Given the description of an element on the screen output the (x, y) to click on. 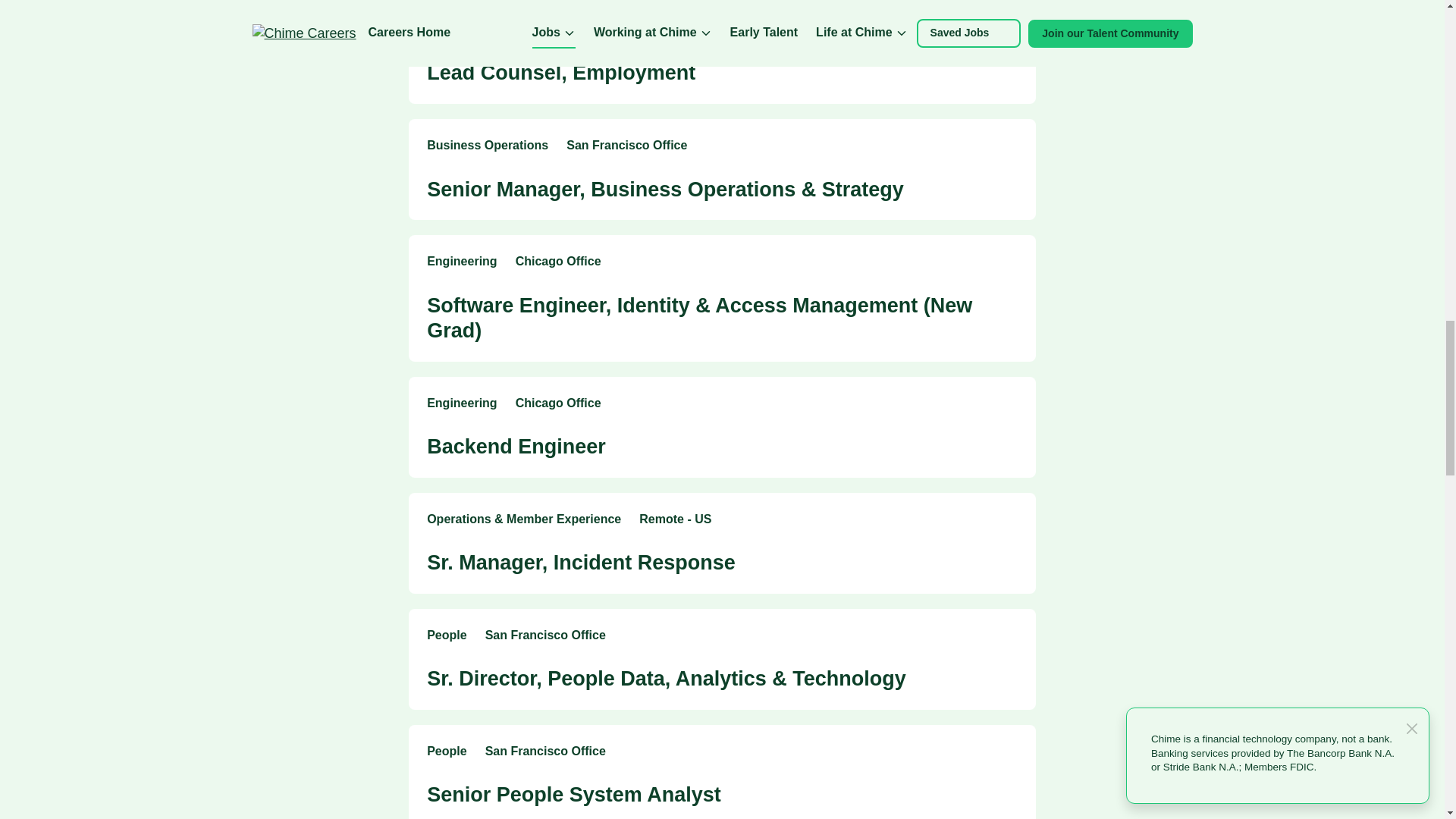
Save (1009, 520)
Save (1009, 30)
Save (1009, 146)
Save (1009, 752)
Save (1009, 636)
Save (1009, 262)
Save (1009, 404)
